Given the description of an element on the screen output the (x, y) to click on. 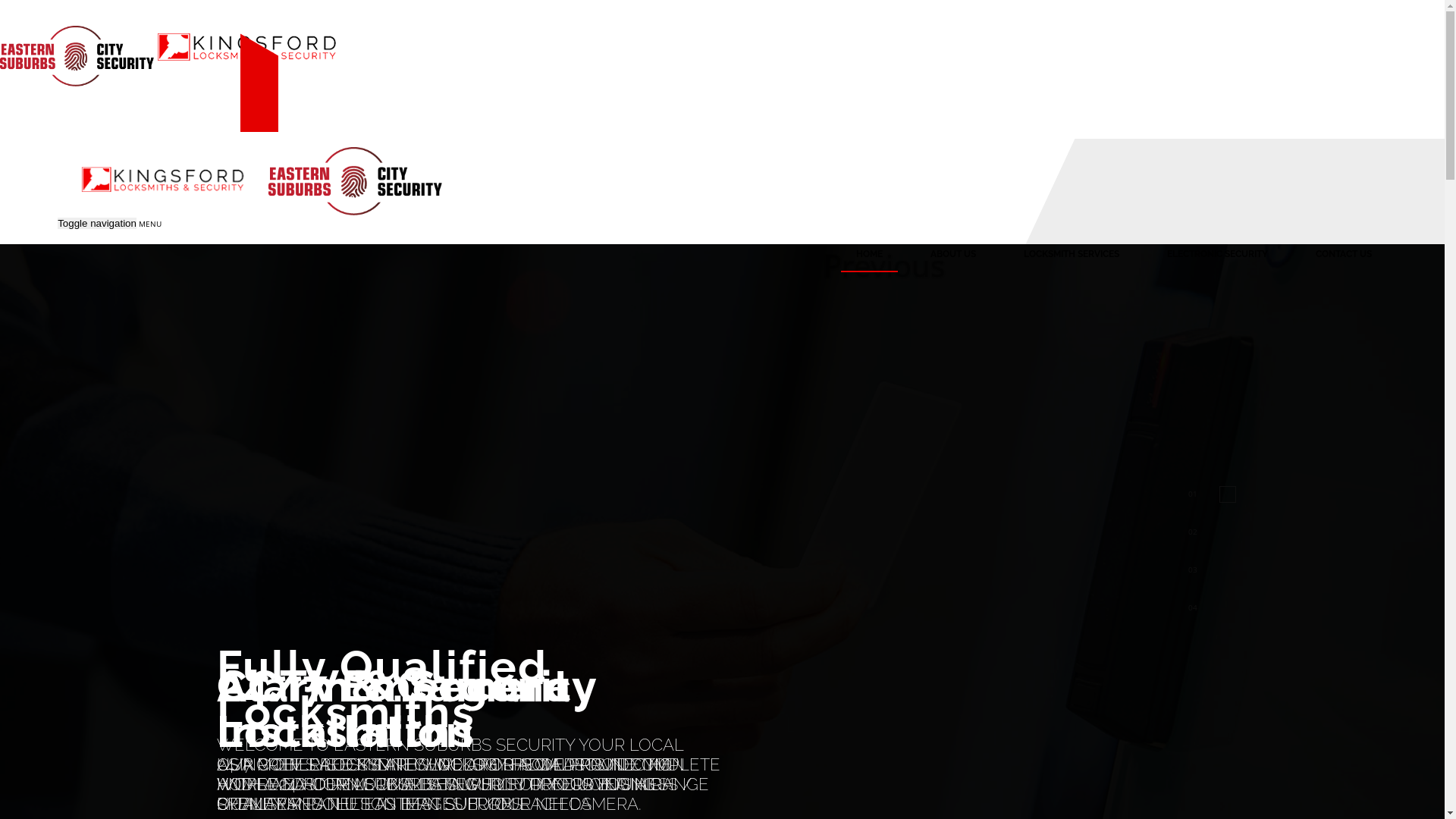
CONTACT US Element type: text (1343, 253)
LOCKSMITH SERVICES Element type: text (1071, 253)
HOME Element type: text (868, 253)
ABOUT US Element type: text (953, 253)
Toggle navigation Element type: text (96, 223)
ELECTRONIC SECURITY Element type: text (1217, 253)
MENU Element type: text (149, 223)
